Given the description of an element on the screen output the (x, y) to click on. 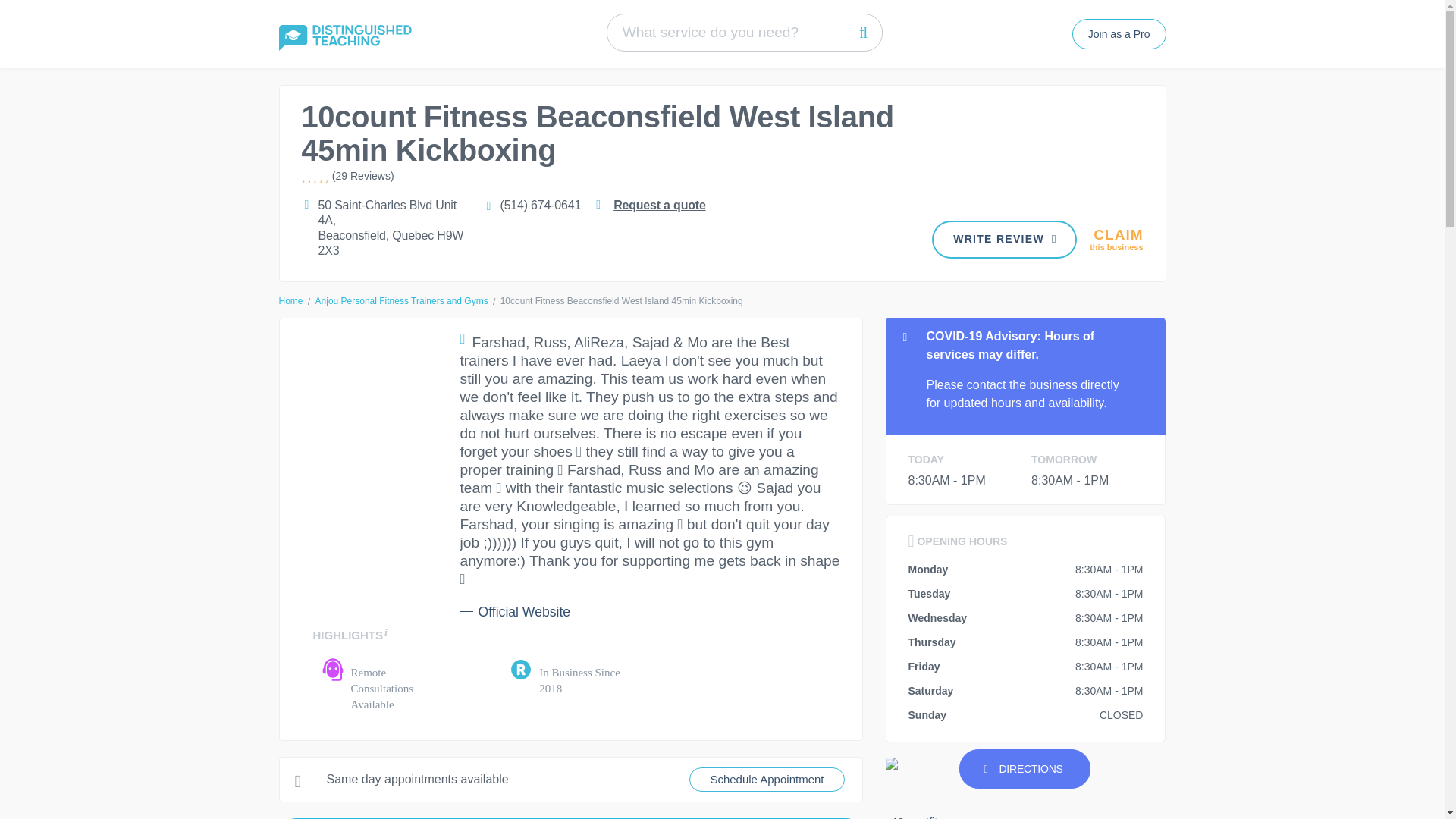
Home (290, 300)
Schedule Appointment (766, 779)
Search (1115, 239)
Search (862, 32)
Search (862, 32)
WRITE REVIEW (862, 32)
Request a quote (1004, 239)
Anjou Personal Fitness Trainers and Gyms (658, 205)
Join as a Pro (401, 300)
